Given the description of an element on the screen output the (x, y) to click on. 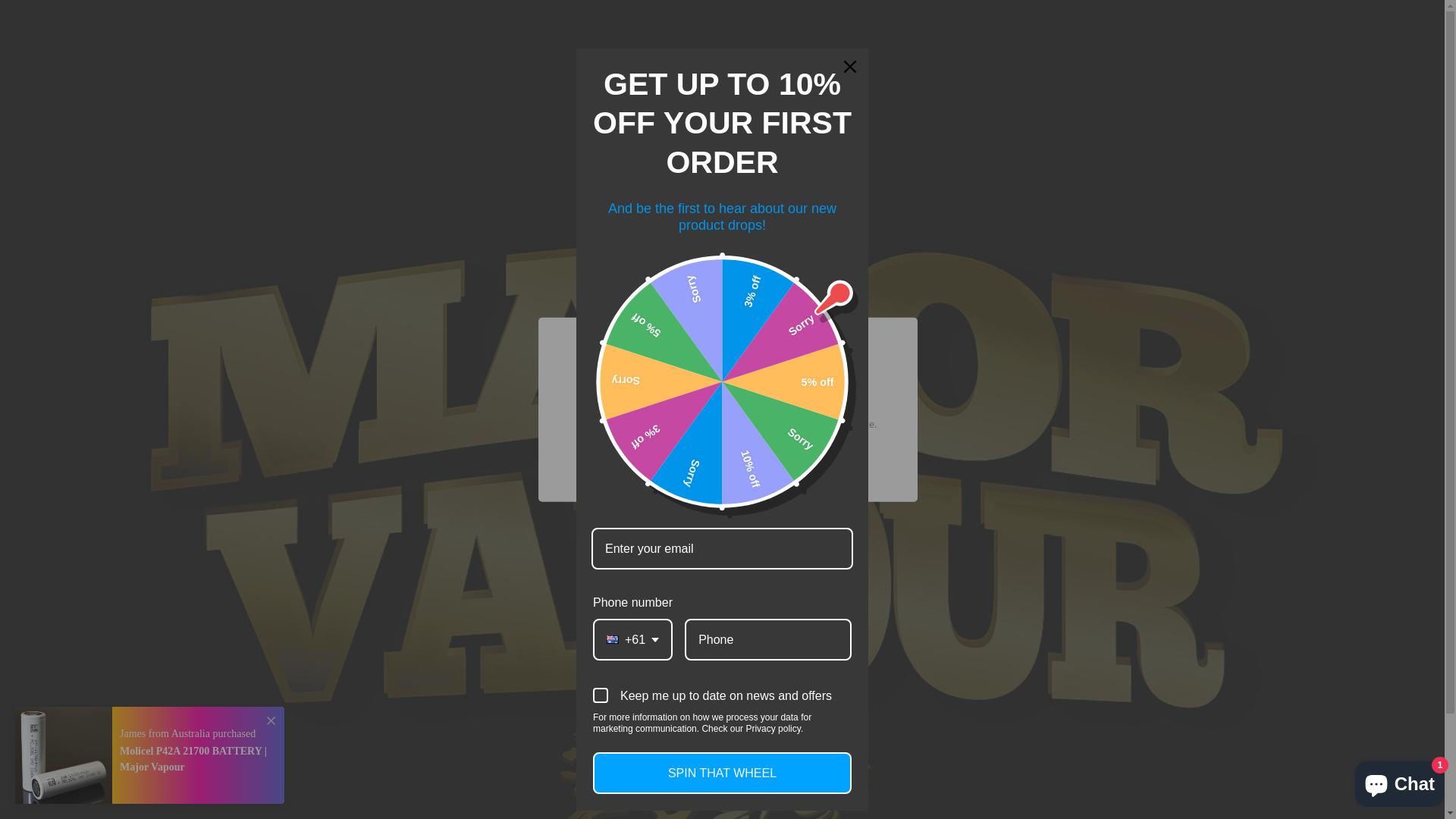
Agree Element type: text (680, 465)
Disagree Element type: text (767, 465)
BATTERIES / CHARGERS Element type: text (737, 129)
Create account Element type: text (1050, 49)
DEVICES Element type: text (866, 97)
EJUICE/ELIQUID Element type: text (760, 97)
BUNDLES Element type: text (1134, 97)
Search Element type: text (310, 49)
MORE FLAVOURS Element type: text (727, 623)
0 Cart Element type: text (1140, 49)
CONTACT US Element type: text (1123, 129)
CLEARANCE PRICES STARTING FROM 50C Element type: text (548, 97)
SPARE PARTS Element type: text (891, 129)
TANKS Element type: text (1053, 97)
Log in Element type: text (973, 49)
MERCHANDISE Element type: text (1010, 129)
Shopify online store chat Element type: hover (1399, 780)
COIL PACKS Element type: text (959, 97)
